Given the description of an element on the screen output the (x, y) to click on. 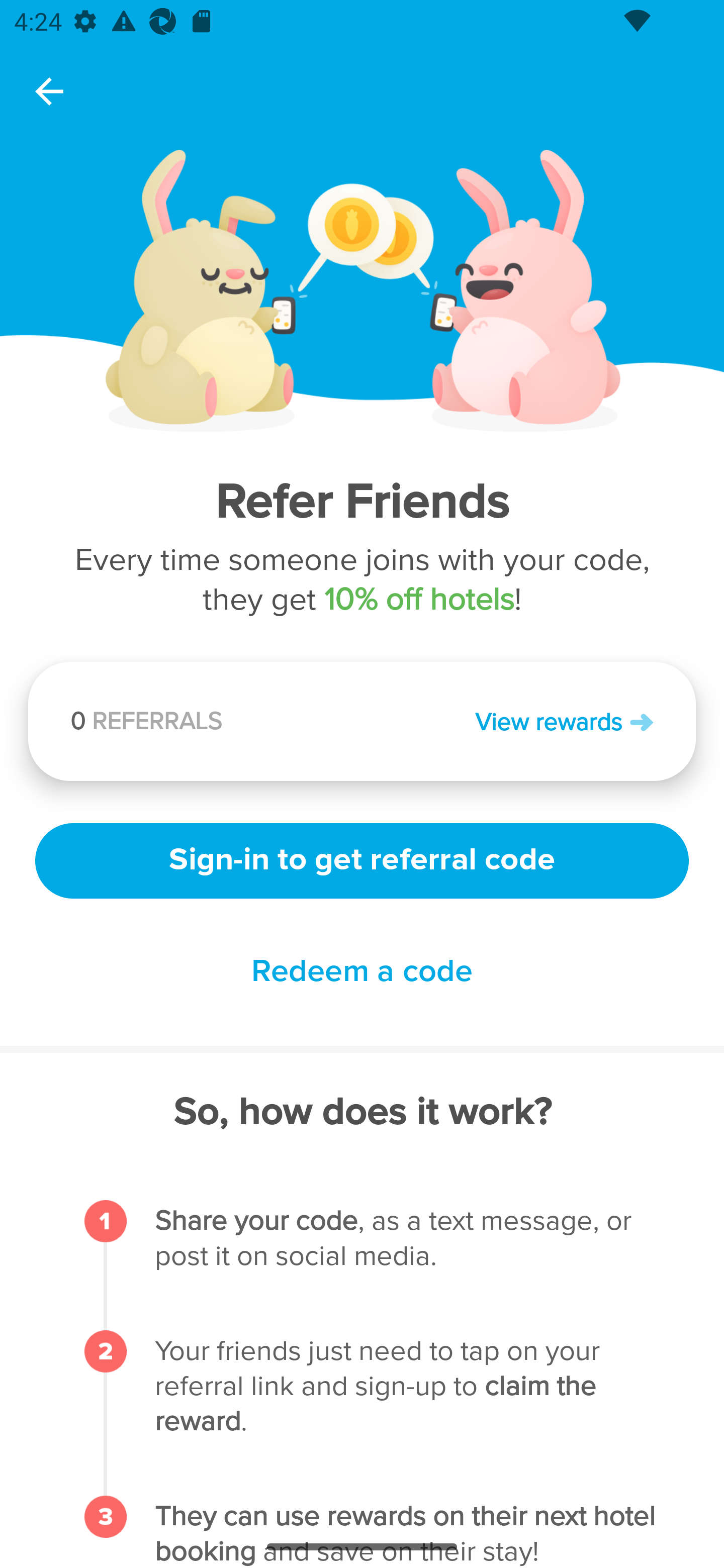
Navigate up (49, 91)
‍Trees planted. Travel more sustainably on Hopper. (259, 726)
‍View rewards ➜ (507, 721)
‍Sign-in to get referral code (361, 858)
‍Redeem a code (361, 971)
